Given the description of an element on the screen output the (x, y) to click on. 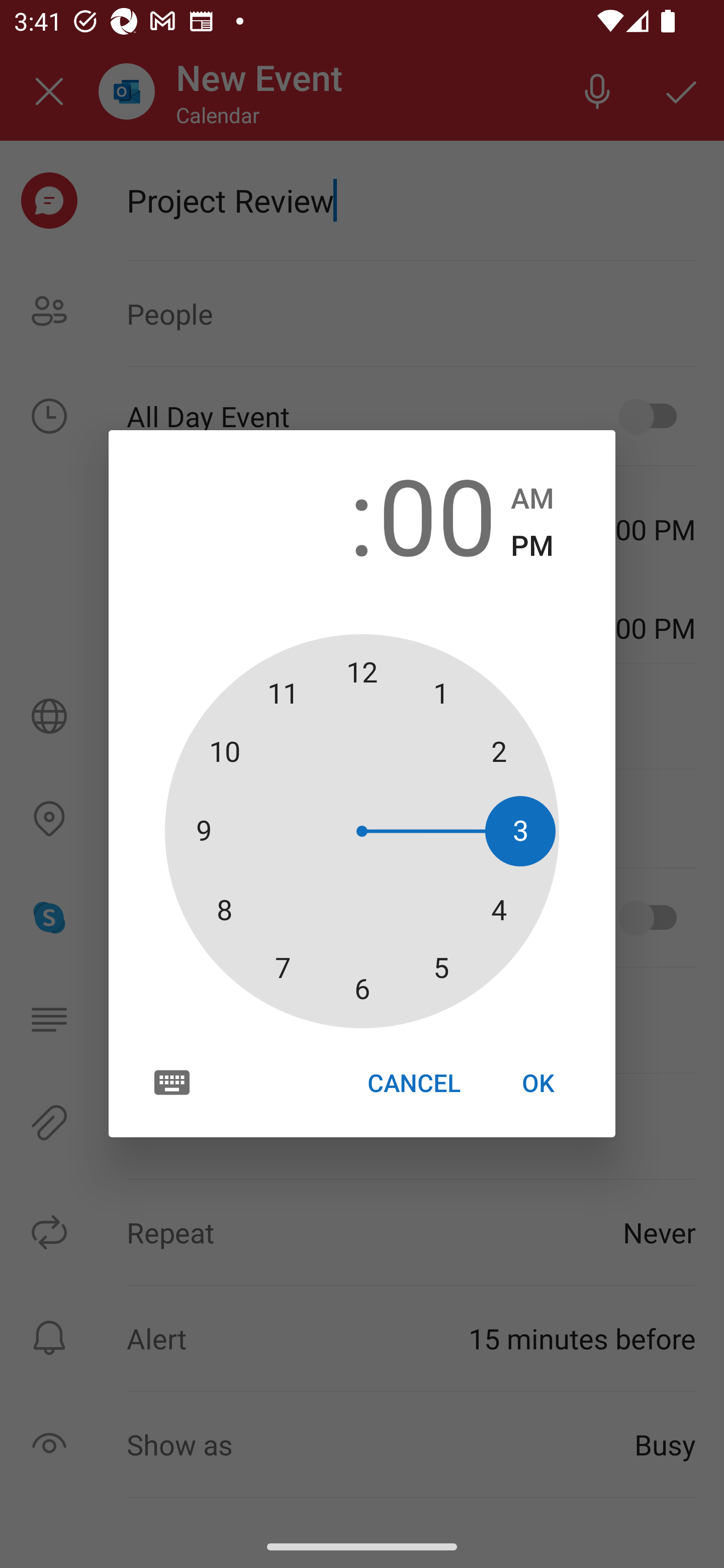
3 (285, 513)
00 (436, 513)
AM (532, 498)
PM (532, 546)
CANCEL (413, 1082)
OK (537, 1082)
Switch to text input mode for the time input. (171, 1081)
